Given the description of an element on the screen output the (x, y) to click on. 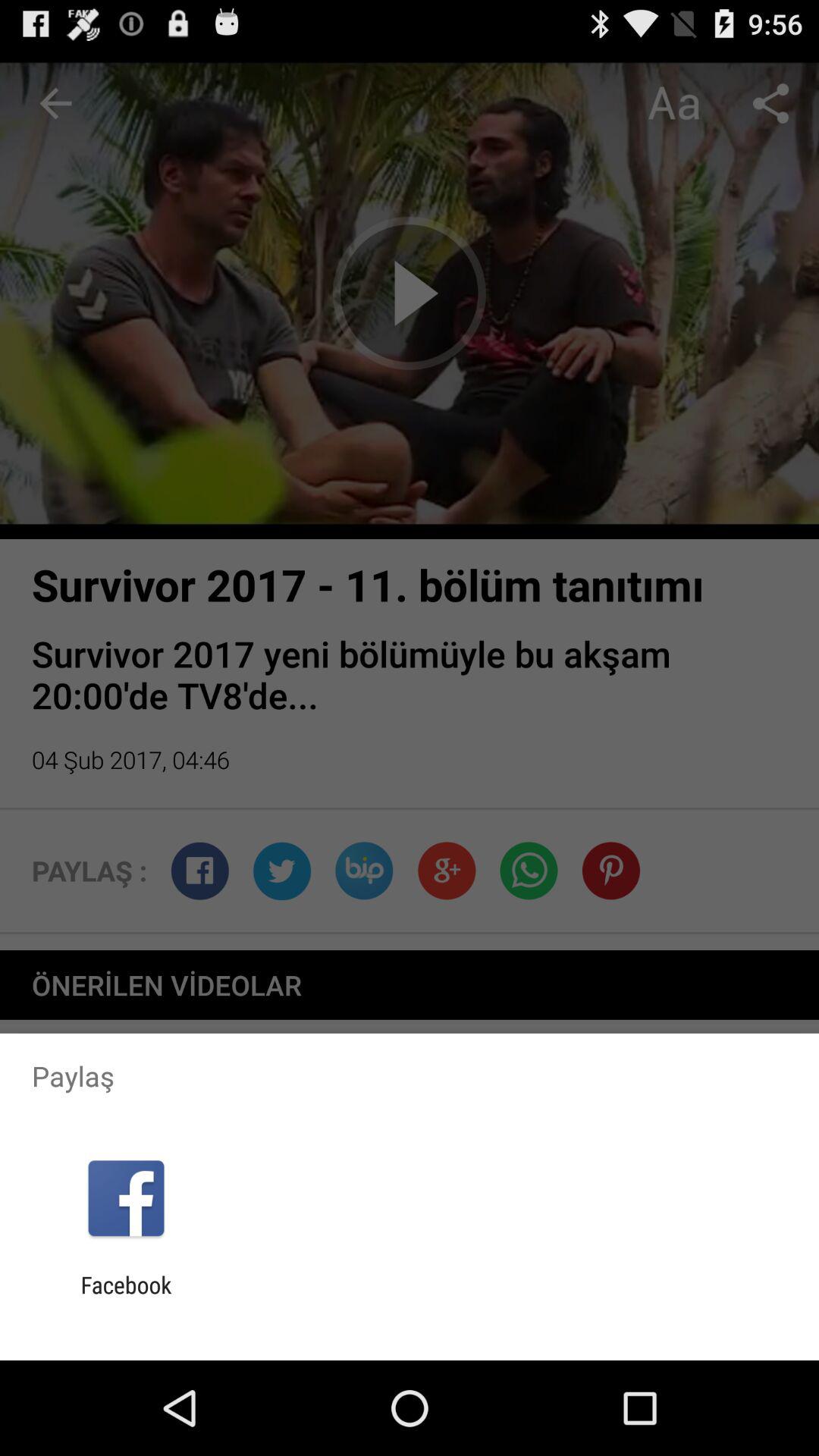
turn on the item above facebook icon (126, 1198)
